Given the description of an element on the screen output the (x, y) to click on. 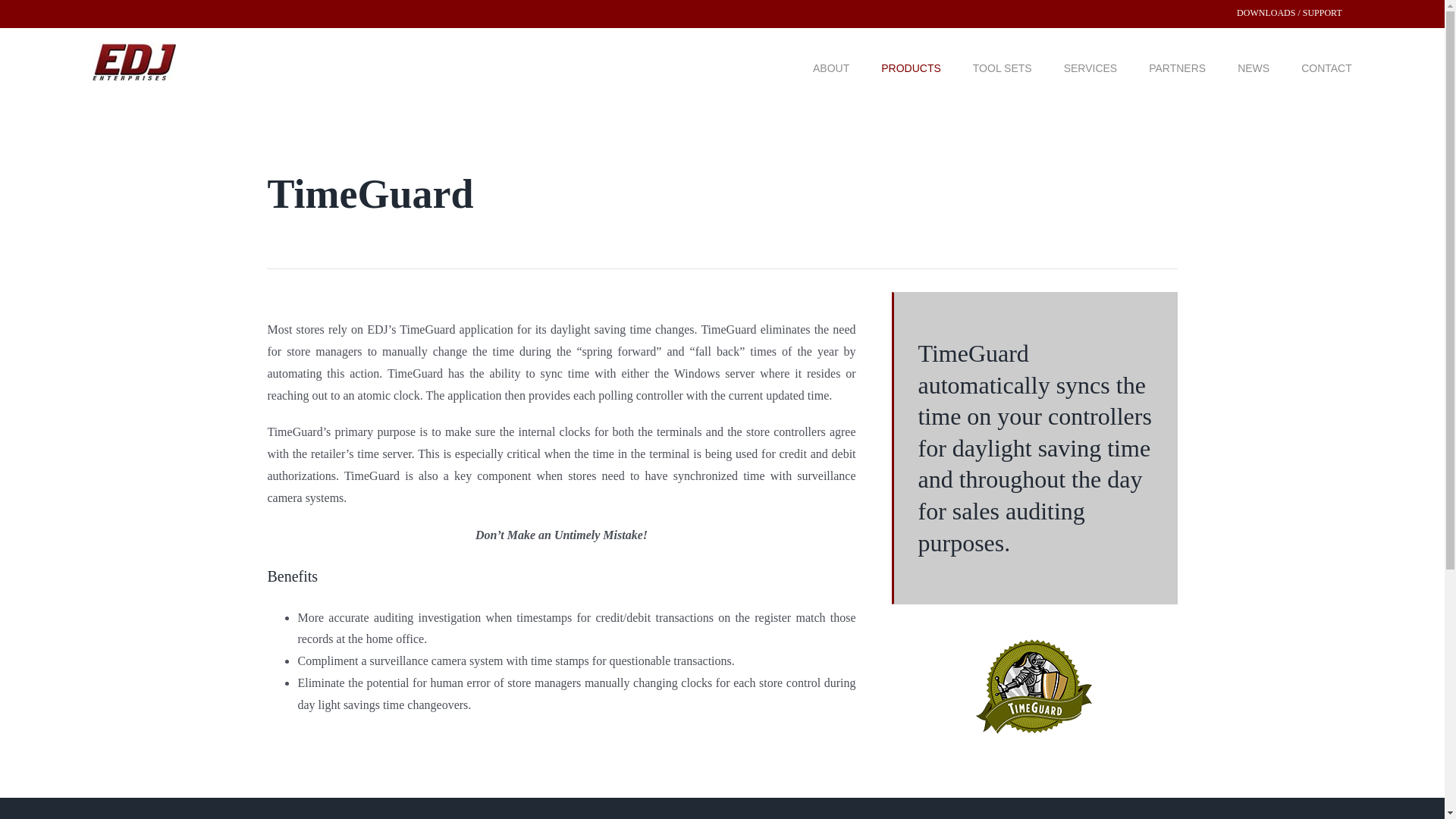
PRODUCTS (910, 67)
SERVICES (1091, 67)
CONTACT (1326, 67)
TOOL SETS (1002, 67)
PARTNERS (1176, 67)
